Given the description of an element on the screen output the (x, y) to click on. 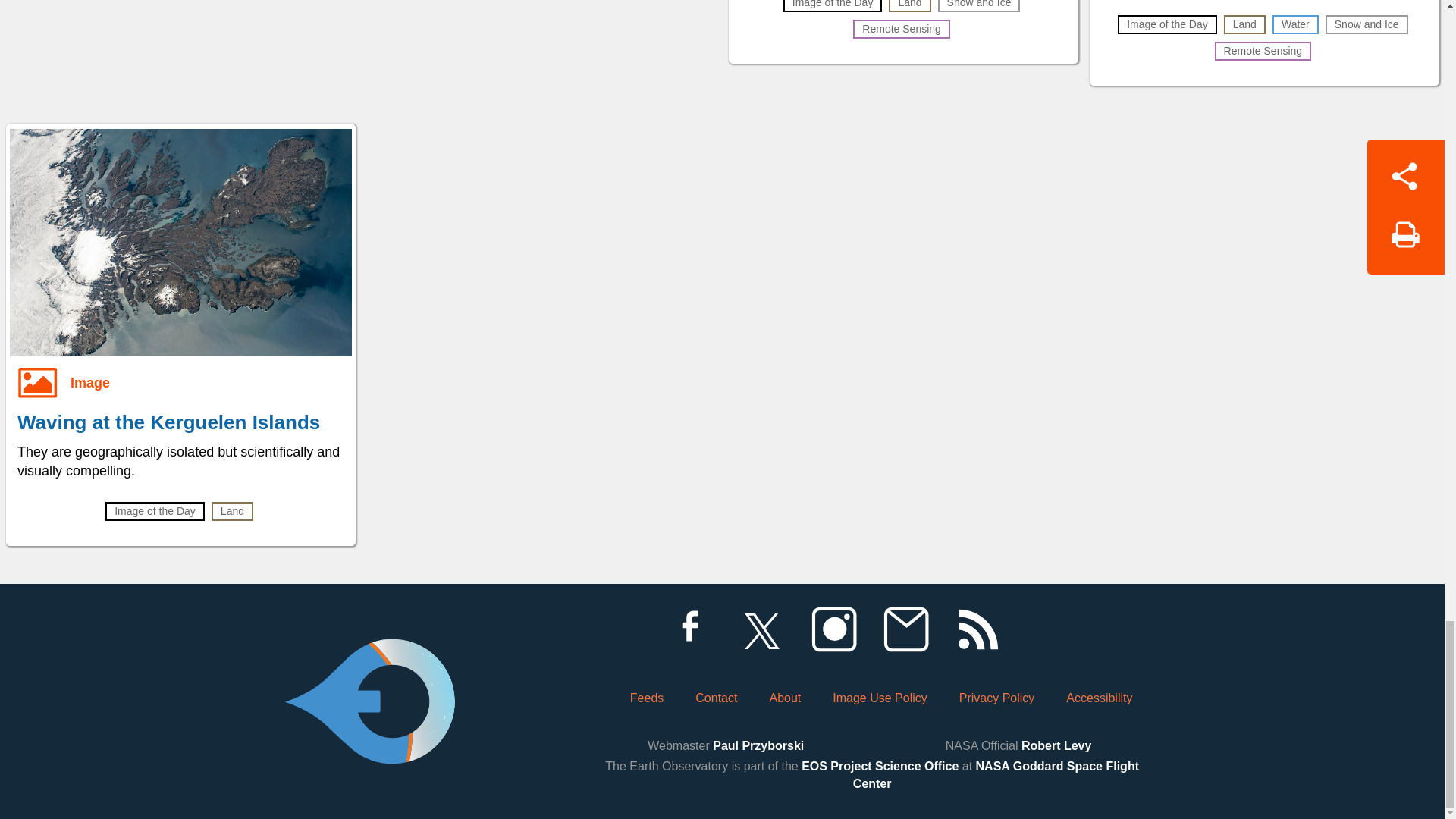
Subscribe (905, 629)
RSS (977, 629)
Instagram (833, 629)
Twitter (761, 629)
Facebook (689, 629)
Earth Observatory (369, 659)
